Given the description of an element on the screen output the (x, y) to click on. 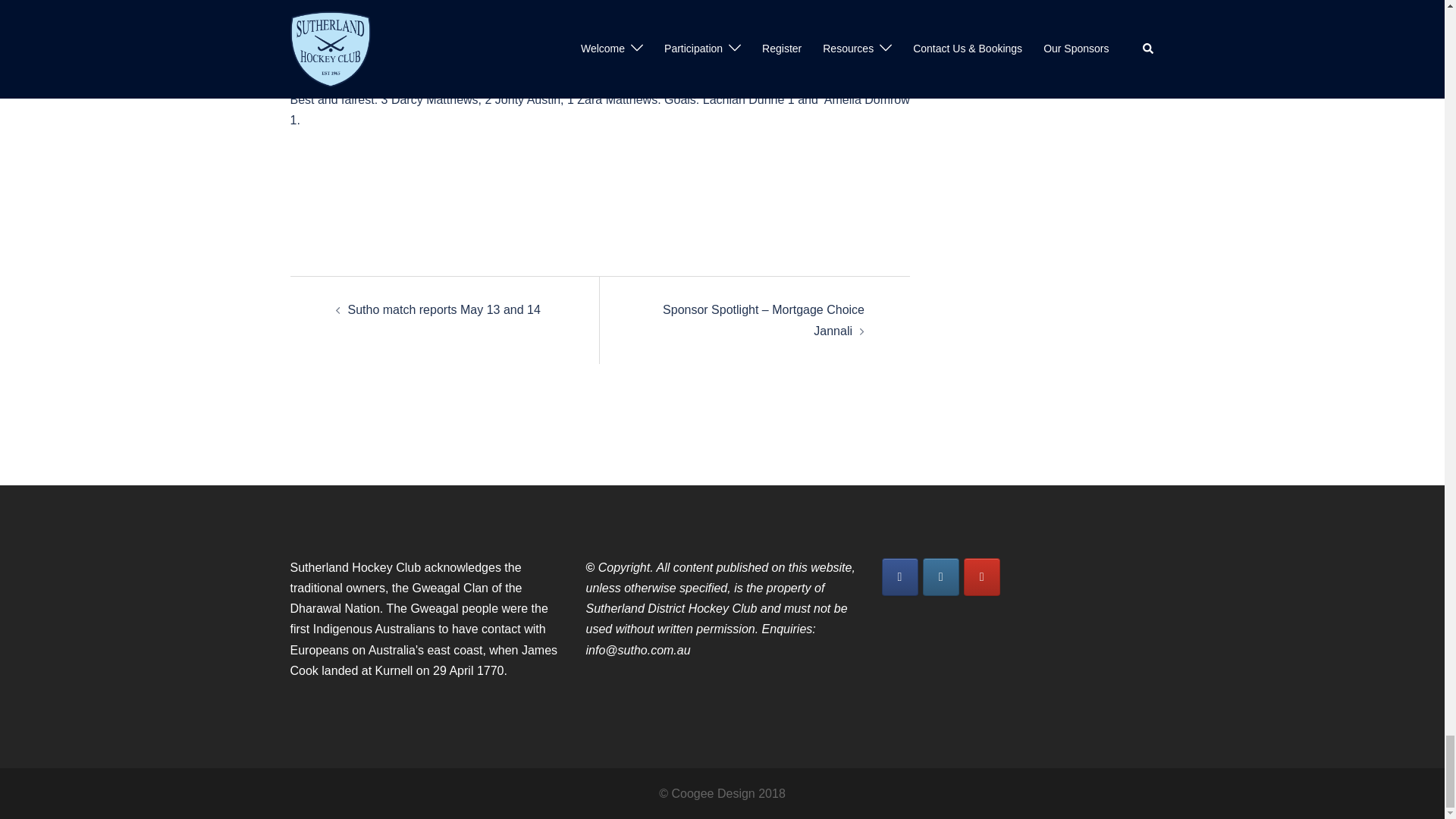
Sutherland Hockey Club on Facebook (898, 576)
Sutherland Hockey Club on Youtube (981, 576)
Sutherland Hockey Club on Instagram (941, 576)
